Given the description of an element on the screen output the (x, y) to click on. 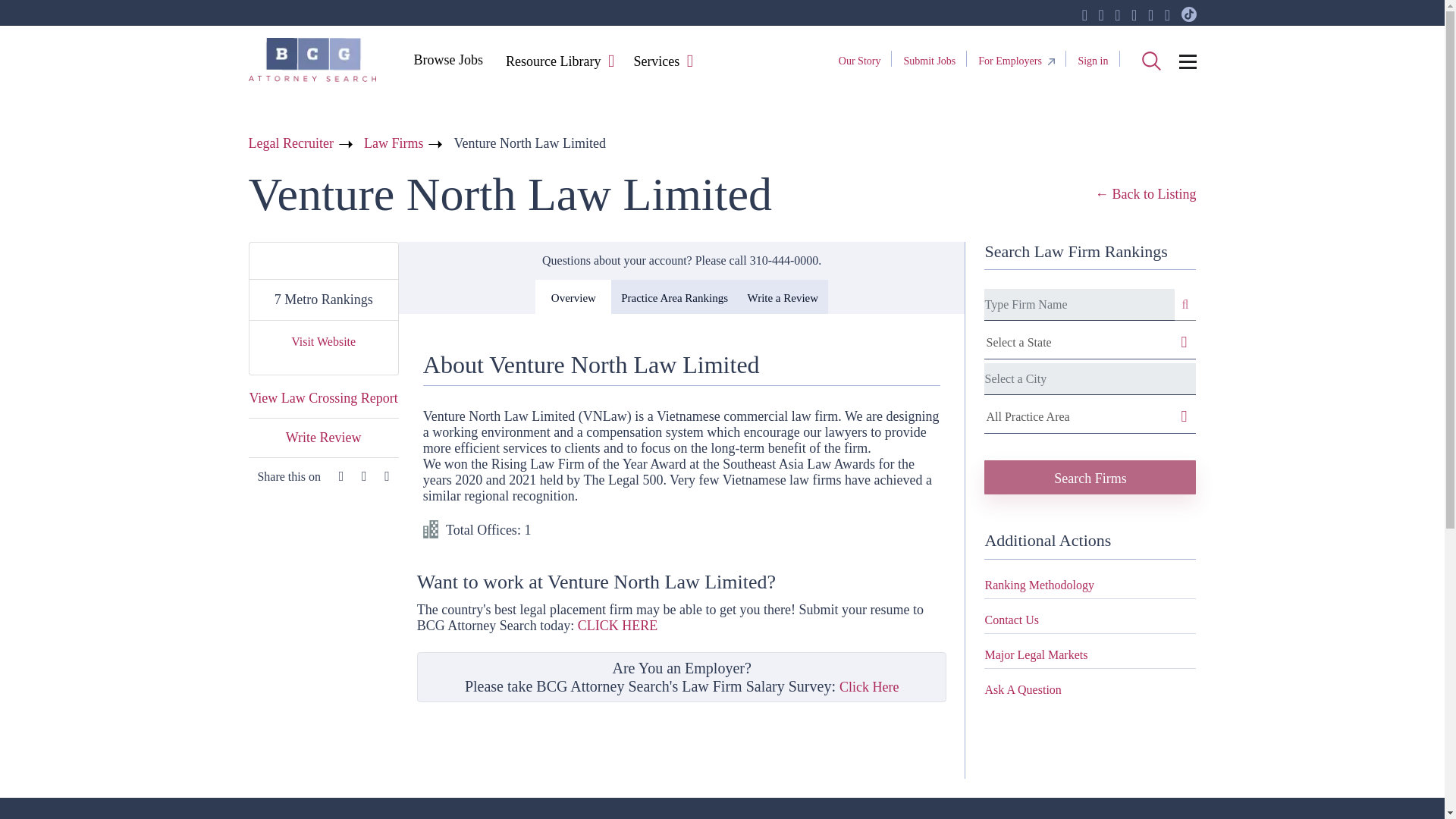
Browse Jobs (448, 59)
Resource Library (553, 62)
BCG Attorney Search Tiktok (1188, 14)
Services (655, 62)
